Given the description of an element on the screen output the (x, y) to click on. 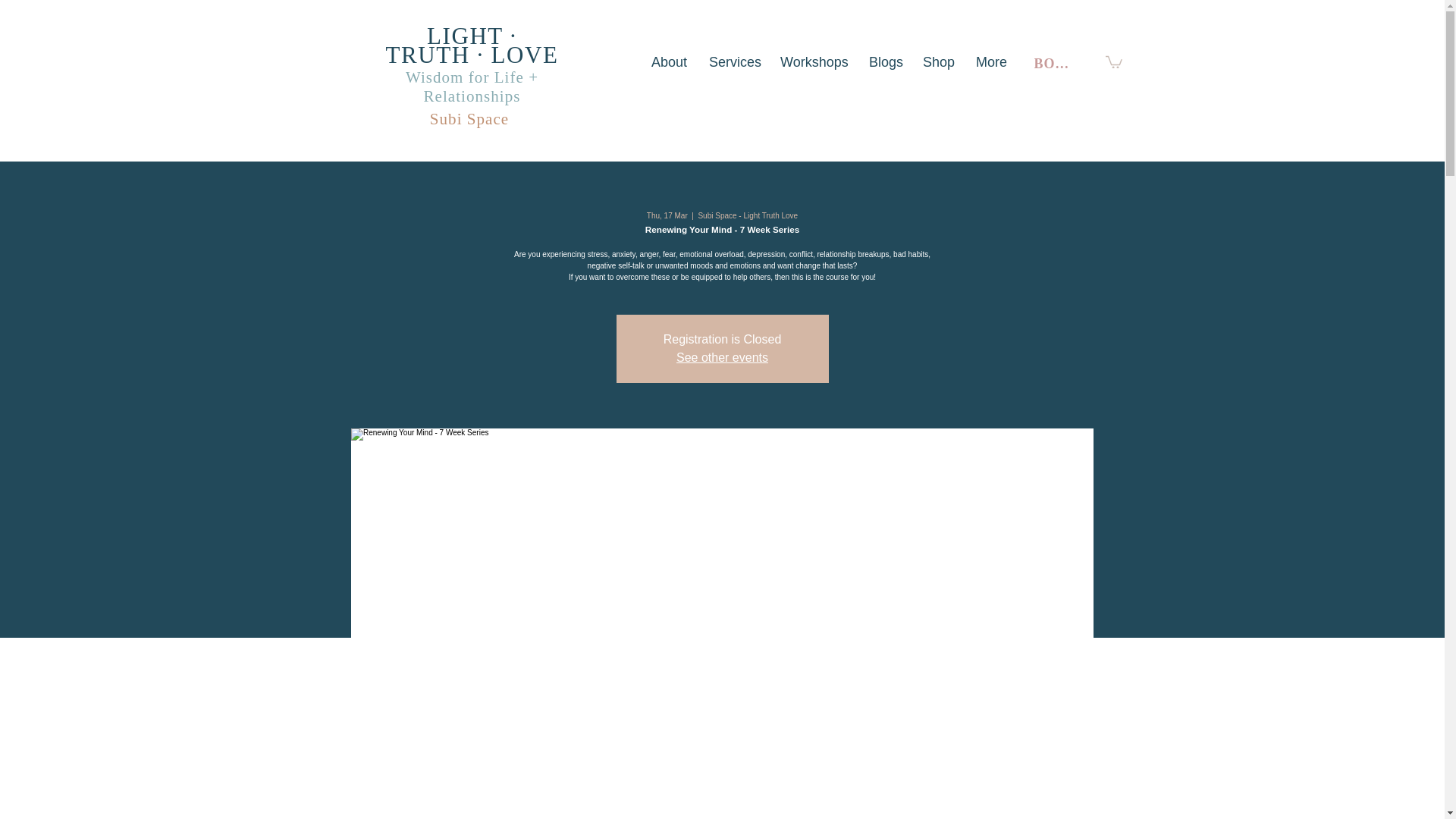
Blogs (884, 62)
See other events (722, 357)
Workshops (812, 62)
Subi Space (468, 118)
About (668, 62)
Shop (937, 62)
BOOK (1057, 63)
Services (732, 62)
